Given the description of an element on the screen output the (x, y) to click on. 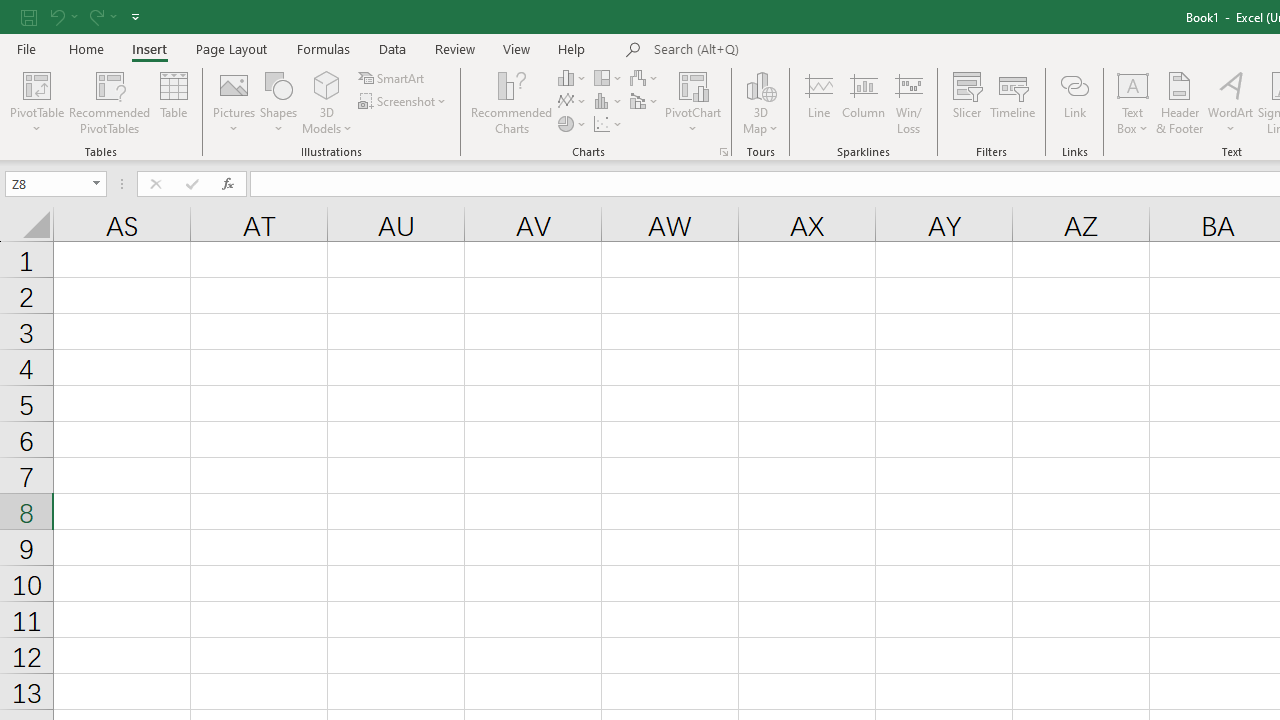
Insert Column or Bar Chart (573, 78)
Insert Scatter (X, Y) or Bubble Chart (609, 124)
Insert Combo Chart (645, 101)
Insert Hierarchy Chart (609, 78)
